Given the description of an element on the screen output the (x, y) to click on. 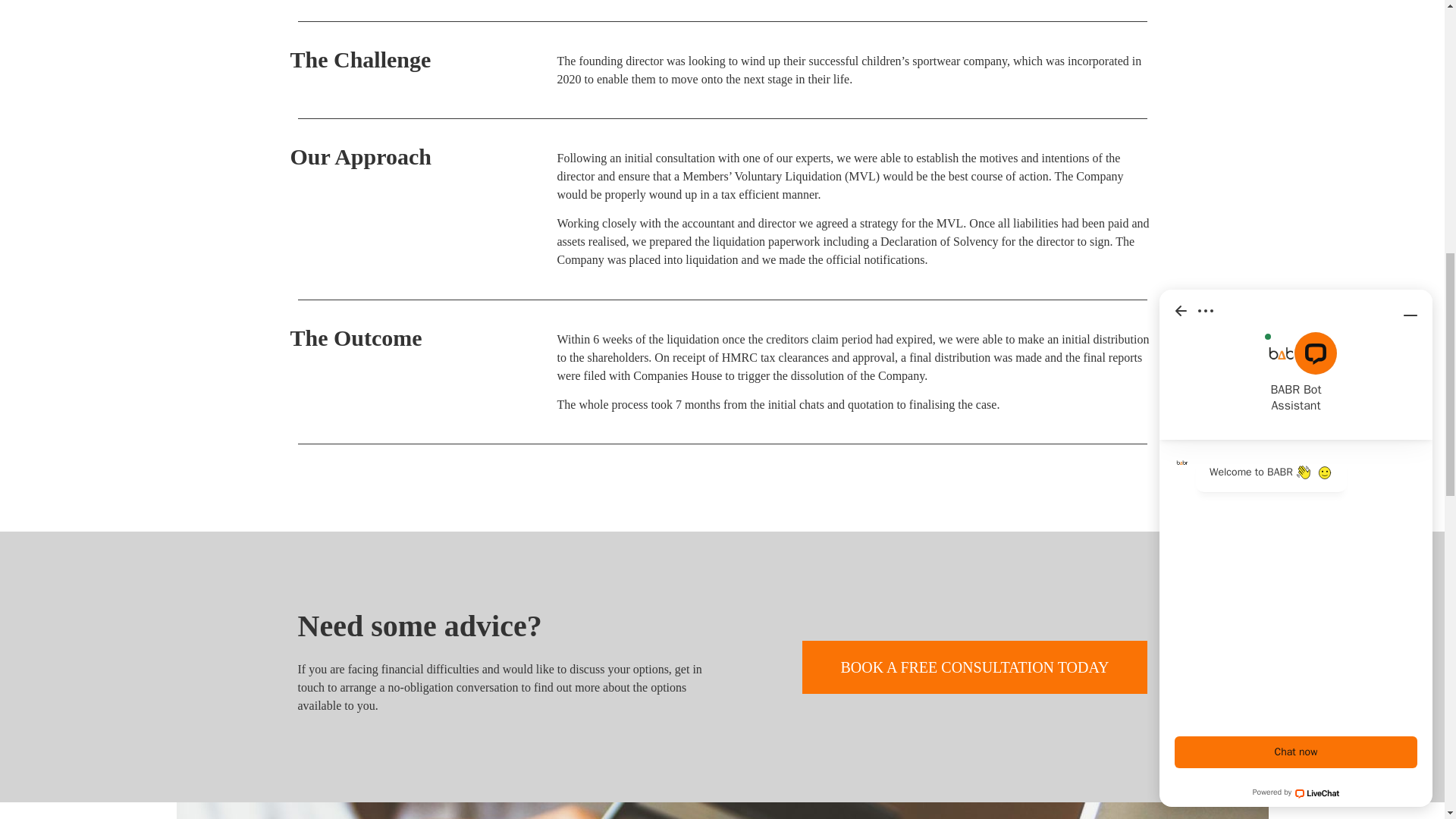
rupixen-com-Q59HmzK38eQ-unsplash (722, 810)
